Given the description of an element on the screen output the (x, y) to click on. 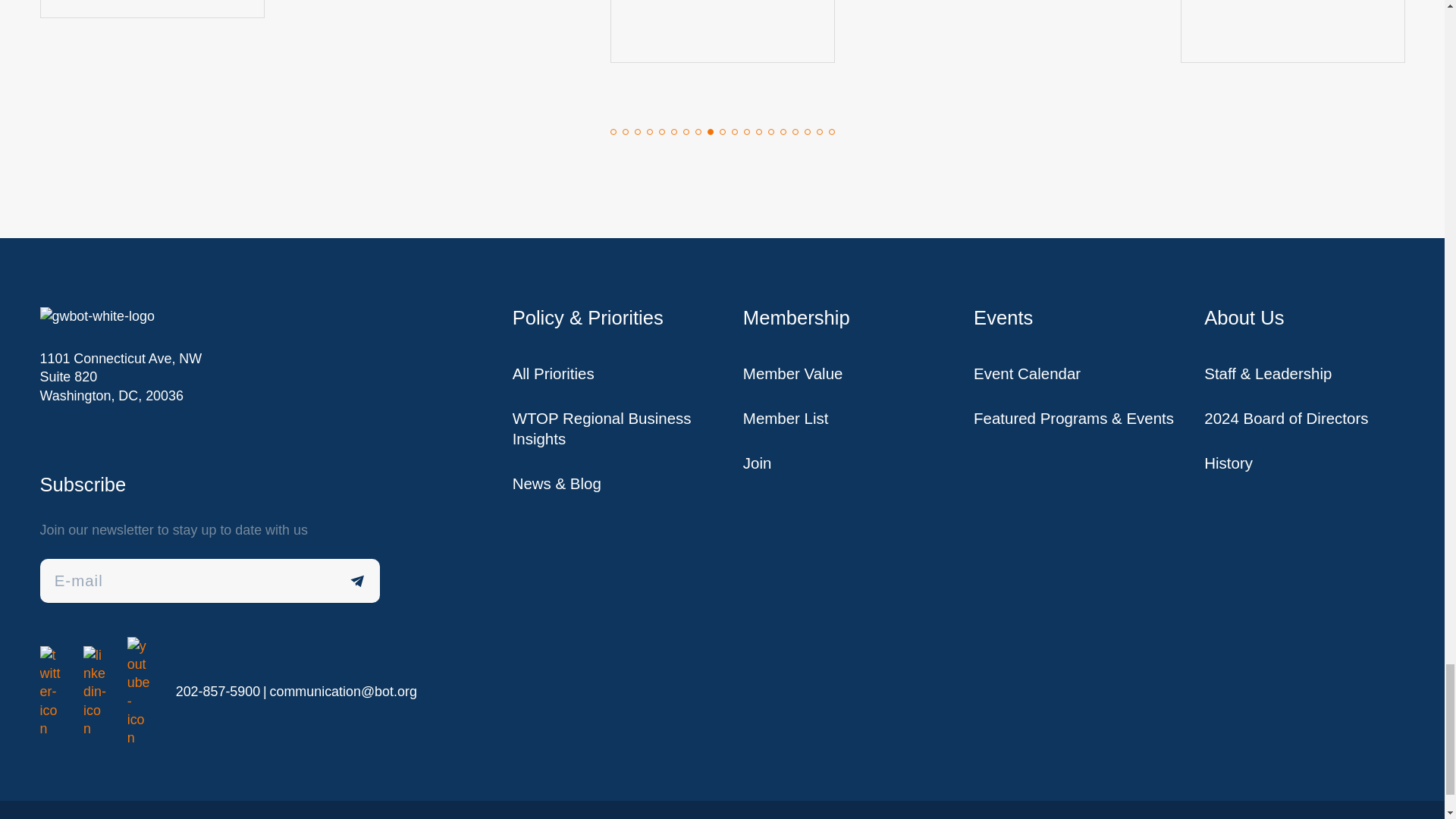
Send (358, 580)
